Given the description of an element on the screen output the (x, y) to click on. 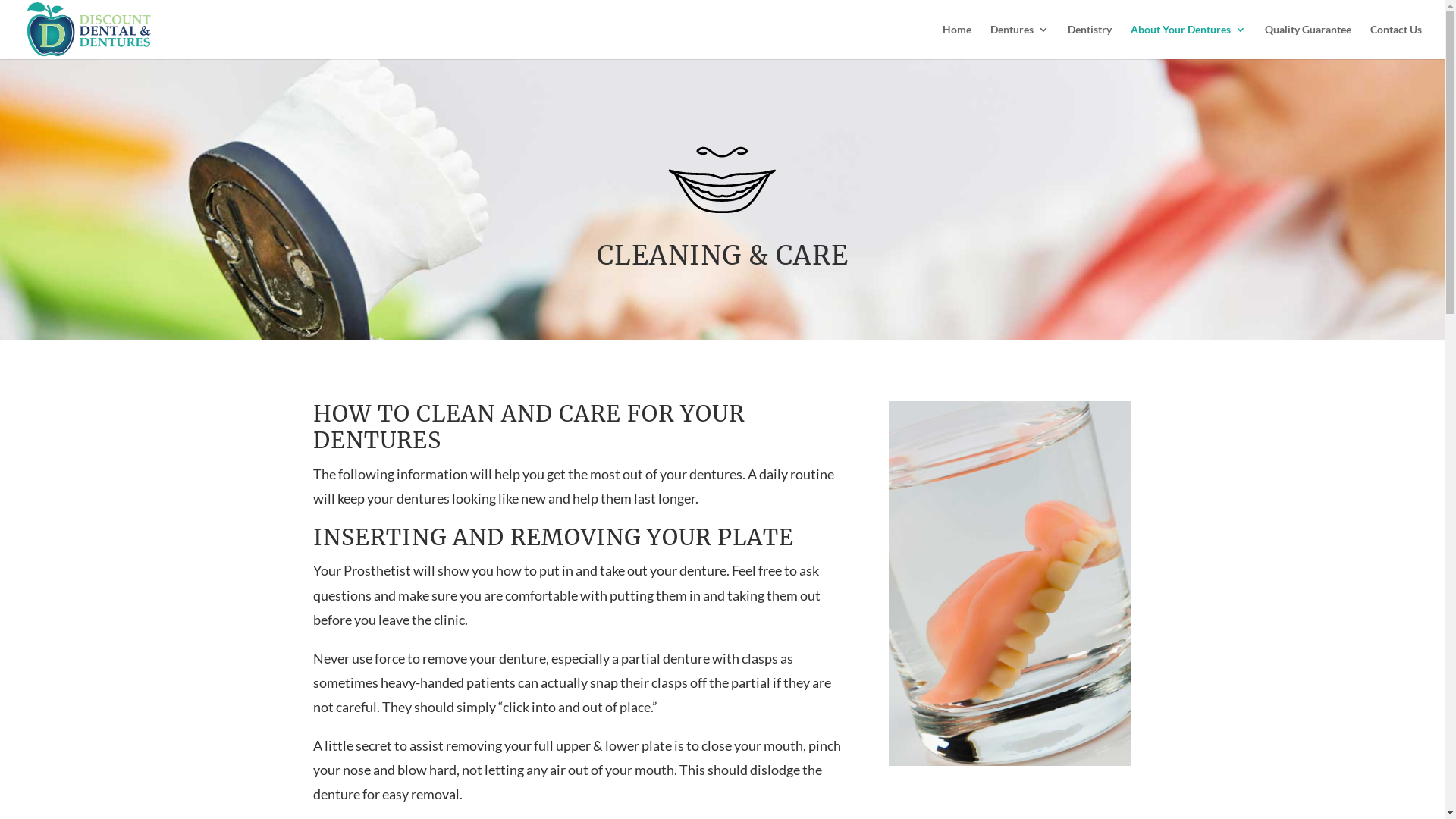
Quality Guarantee Element type: text (1307, 41)
Contact Us Element type: text (1395, 41)
Home Element type: text (956, 41)
Dentistry Element type: text (1089, 41)
About Your Dentures Element type: text (1187, 41)
Dentures Element type: text (1019, 41)
